Given the description of an element on the screen output the (x, y) to click on. 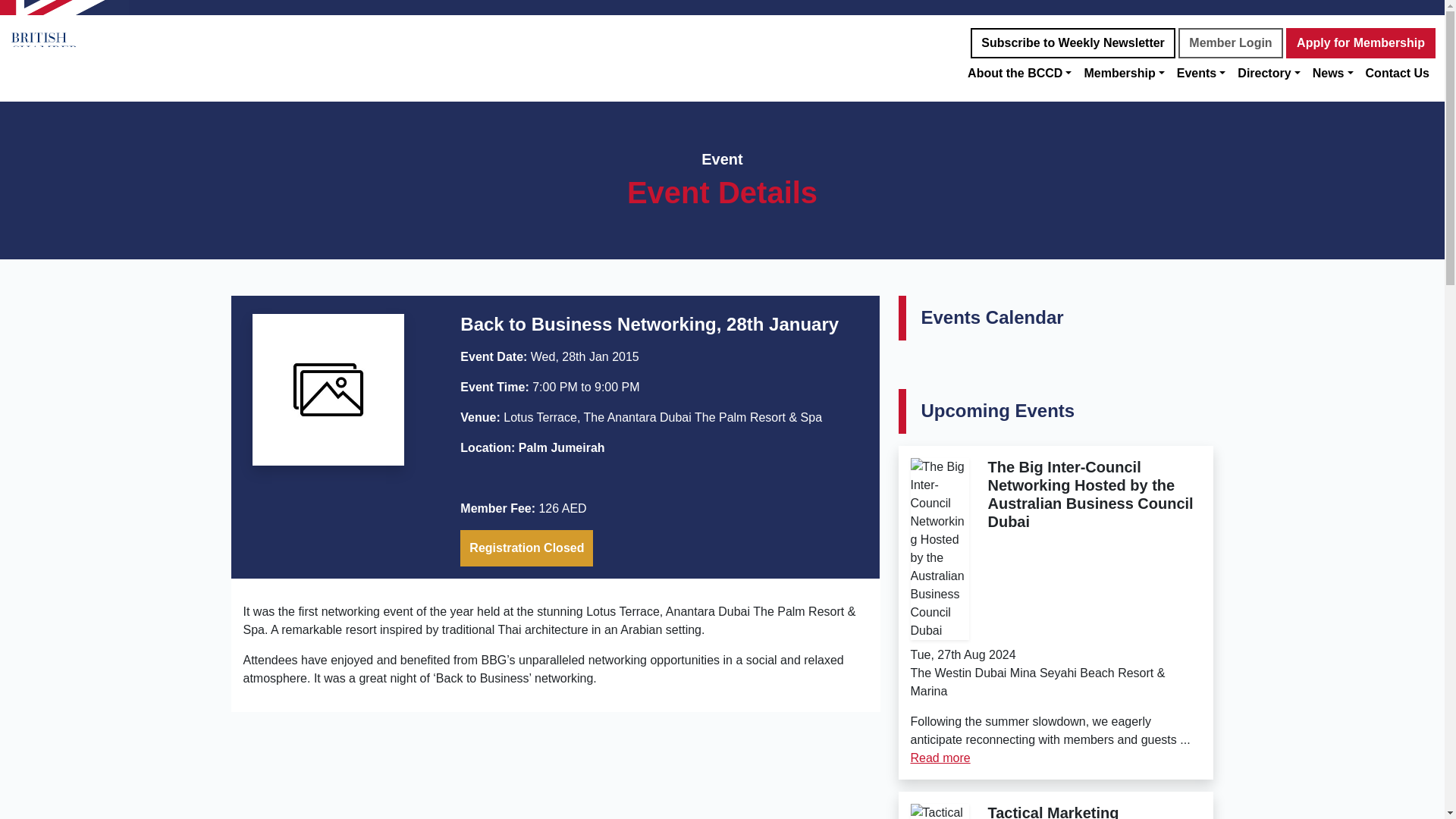
Member Login (1229, 42)
Membership (1123, 73)
Directory (1268, 73)
Apply for Membership (1360, 42)
About the BCCD (1018, 73)
Subscribe to Weekly Newsletter (1072, 42)
Read more (939, 757)
News (1332, 73)
Events (1200, 73)
Contact Us (1397, 73)
